Given the description of an element on the screen output the (x, y) to click on. 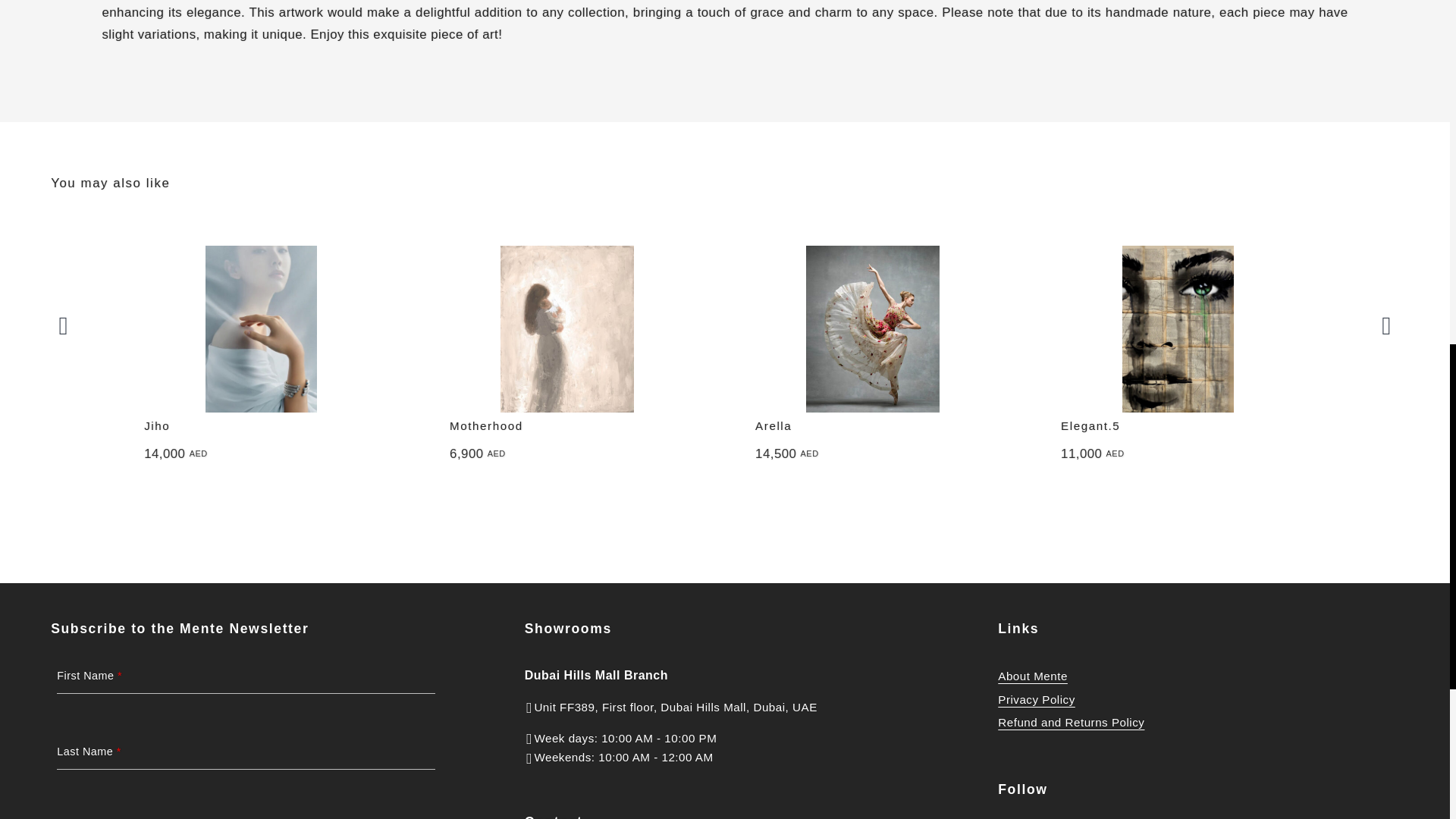
Jiho (157, 425)
Arella (773, 425)
Motherhood (485, 425)
